Given the description of an element on the screen output the (x, y) to click on. 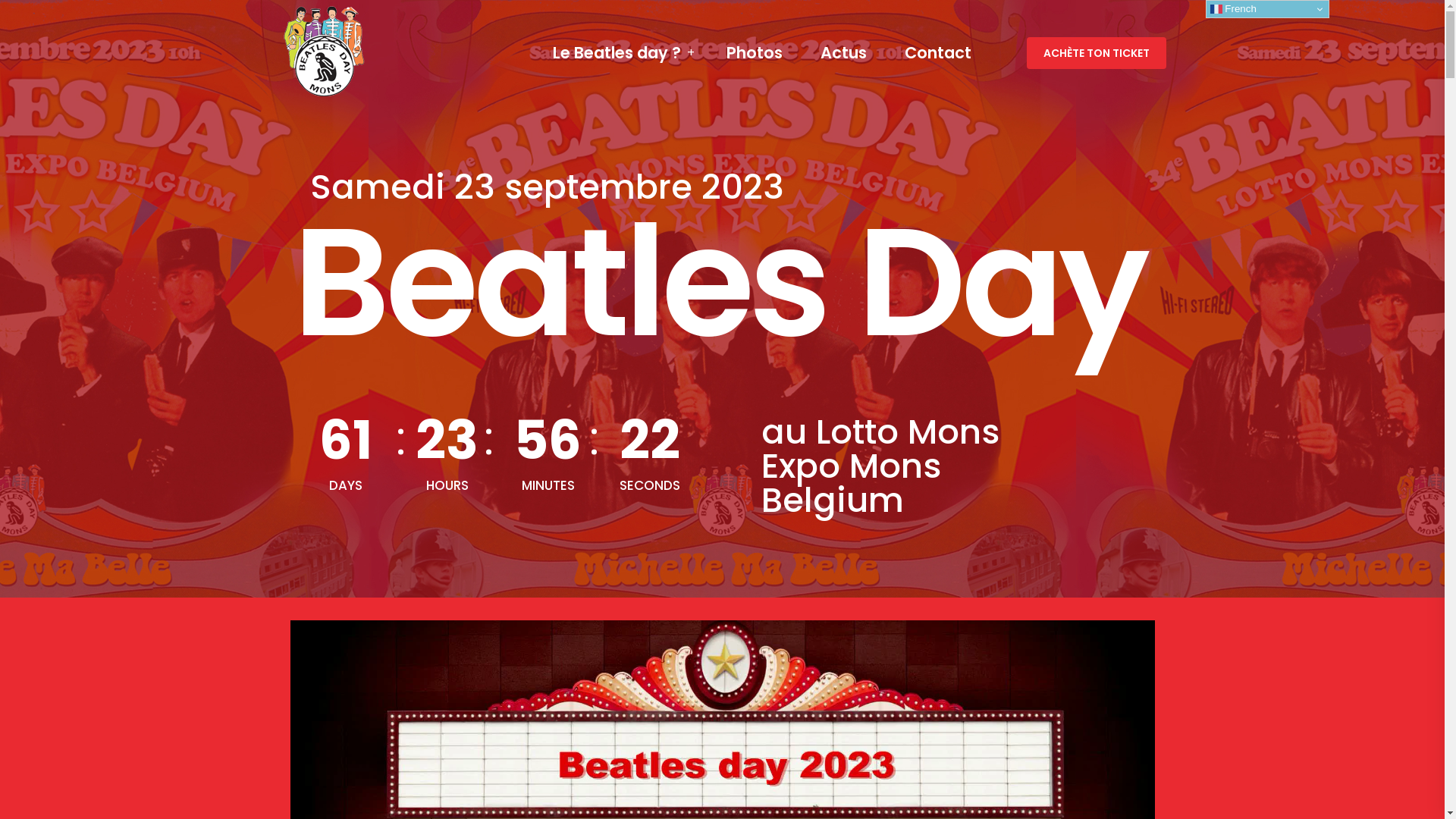
Contact Element type: text (937, 52)
Le Beatles day ? Element type: text (615, 52)
French Element type: text (1267, 9)
Photos Element type: text (754, 52)
Actus Element type: text (843, 52)
